Given the description of an element on the screen output the (x, y) to click on. 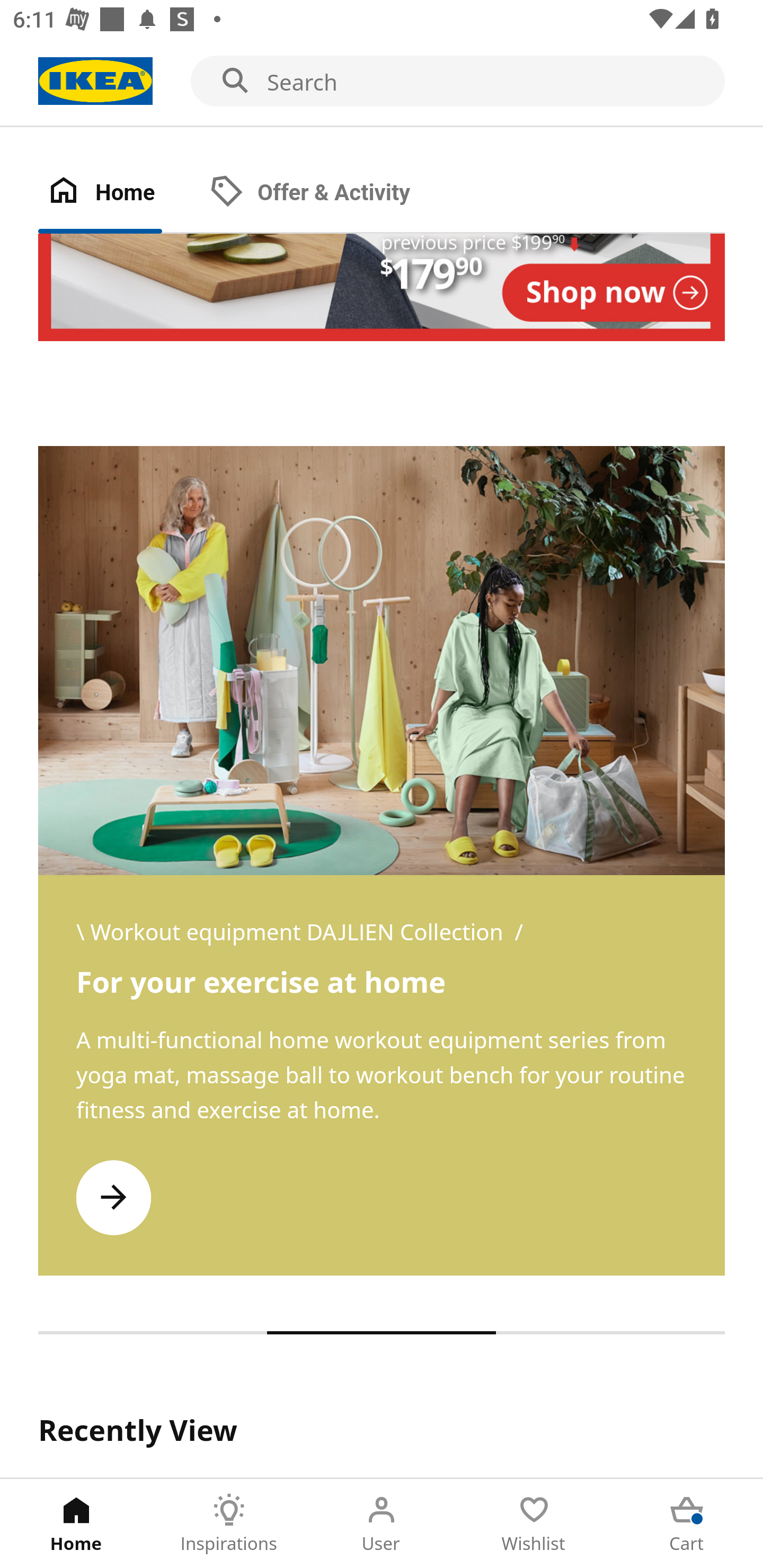
Search (381, 81)
Home
Tab 1 of 2 (118, 192)
Offer & Activity
Tab 2 of 2 (327, 192)
Home
Tab 1 of 5 (76, 1522)
Inspirations
Tab 2 of 5 (228, 1522)
User
Tab 3 of 5 (381, 1522)
Wishlist
Tab 4 of 5 (533, 1522)
Cart
Tab 5 of 5 (686, 1522)
